Given the description of an element on the screen output the (x, y) to click on. 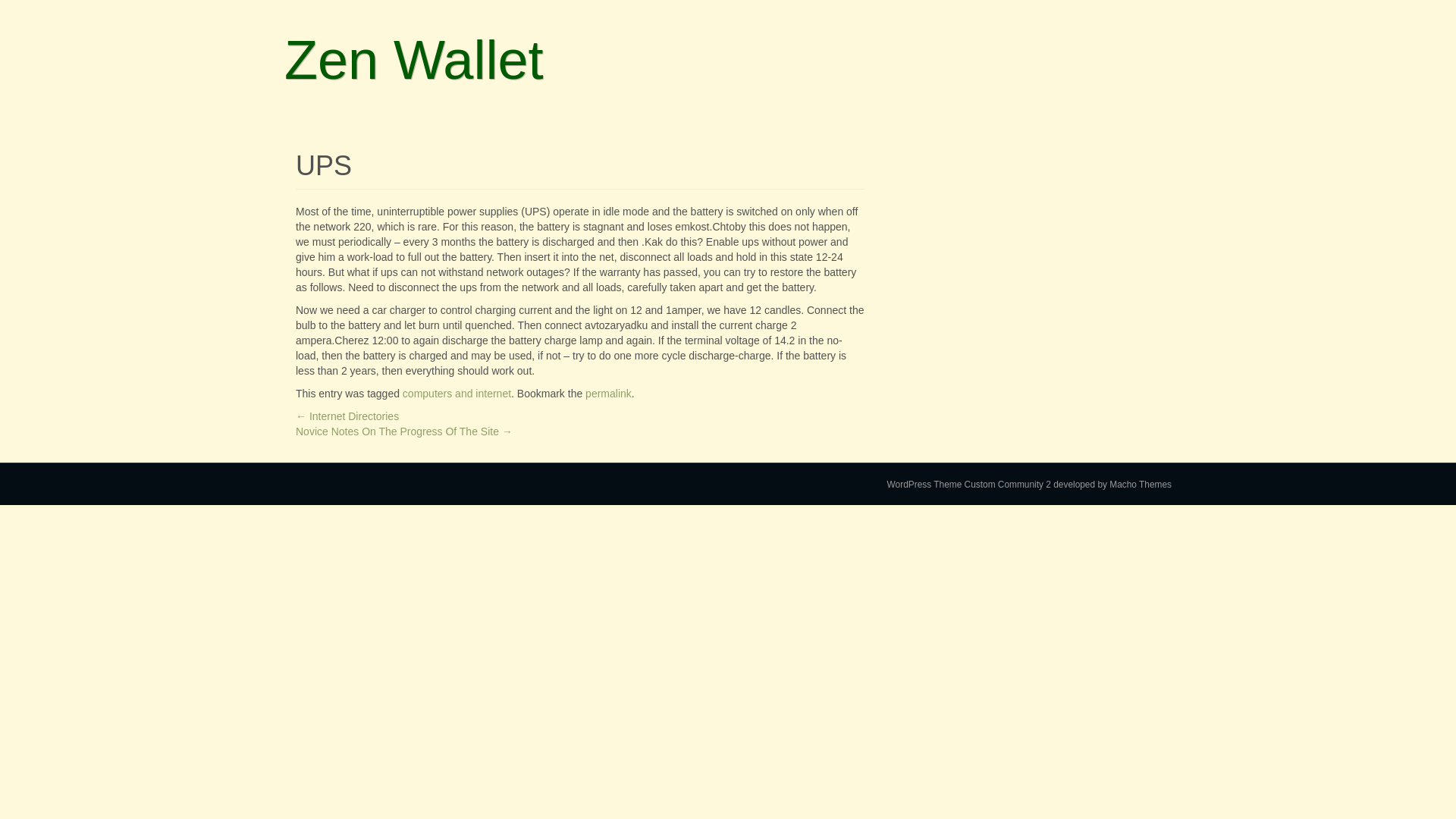
permalink (608, 393)
developed by Macho Themes (1112, 484)
WordPress Theme Custom Community 2 (968, 484)
Zen Wallet (413, 59)
computers and internet (457, 393)
Professional WOordPress Themes (1112, 484)
WordPress Theme Custom Community 2 (968, 484)
Zen Wallet (413, 59)
Permalink to UPS (608, 393)
